Given the description of an element on the screen output the (x, y) to click on. 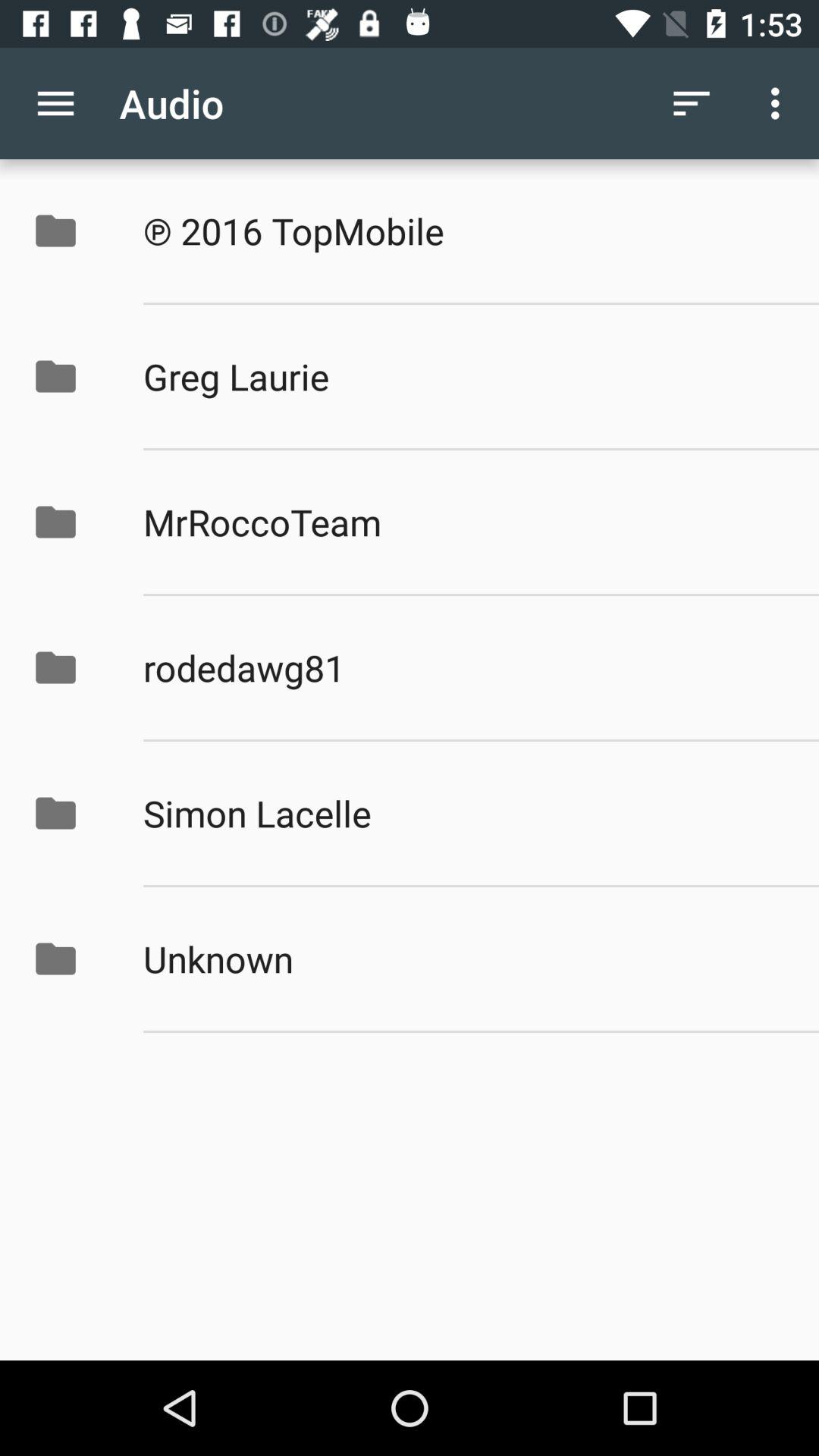
jump to the simon lacelle item (465, 812)
